Given the description of an element on the screen output the (x, y) to click on. 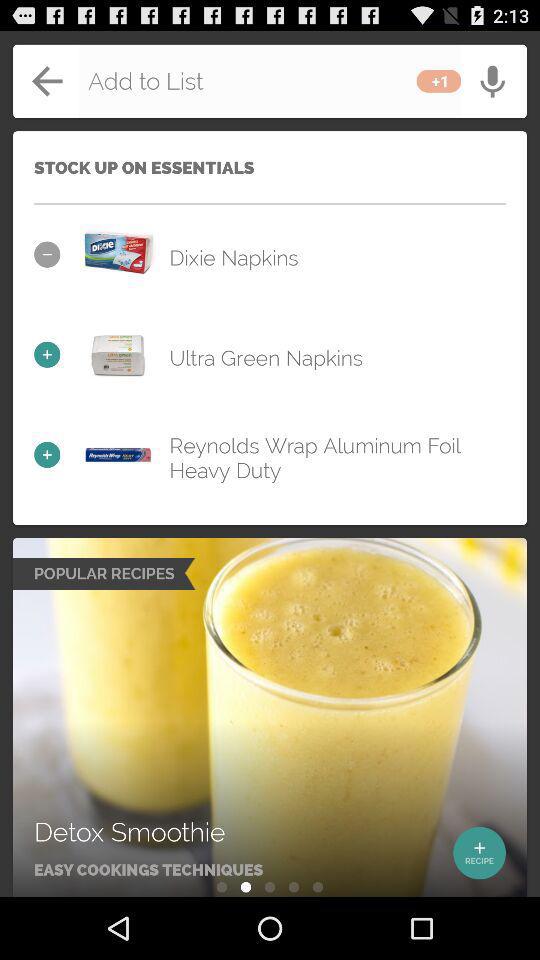
go to back (269, 81)
